Given the description of an element on the screen output the (x, y) to click on. 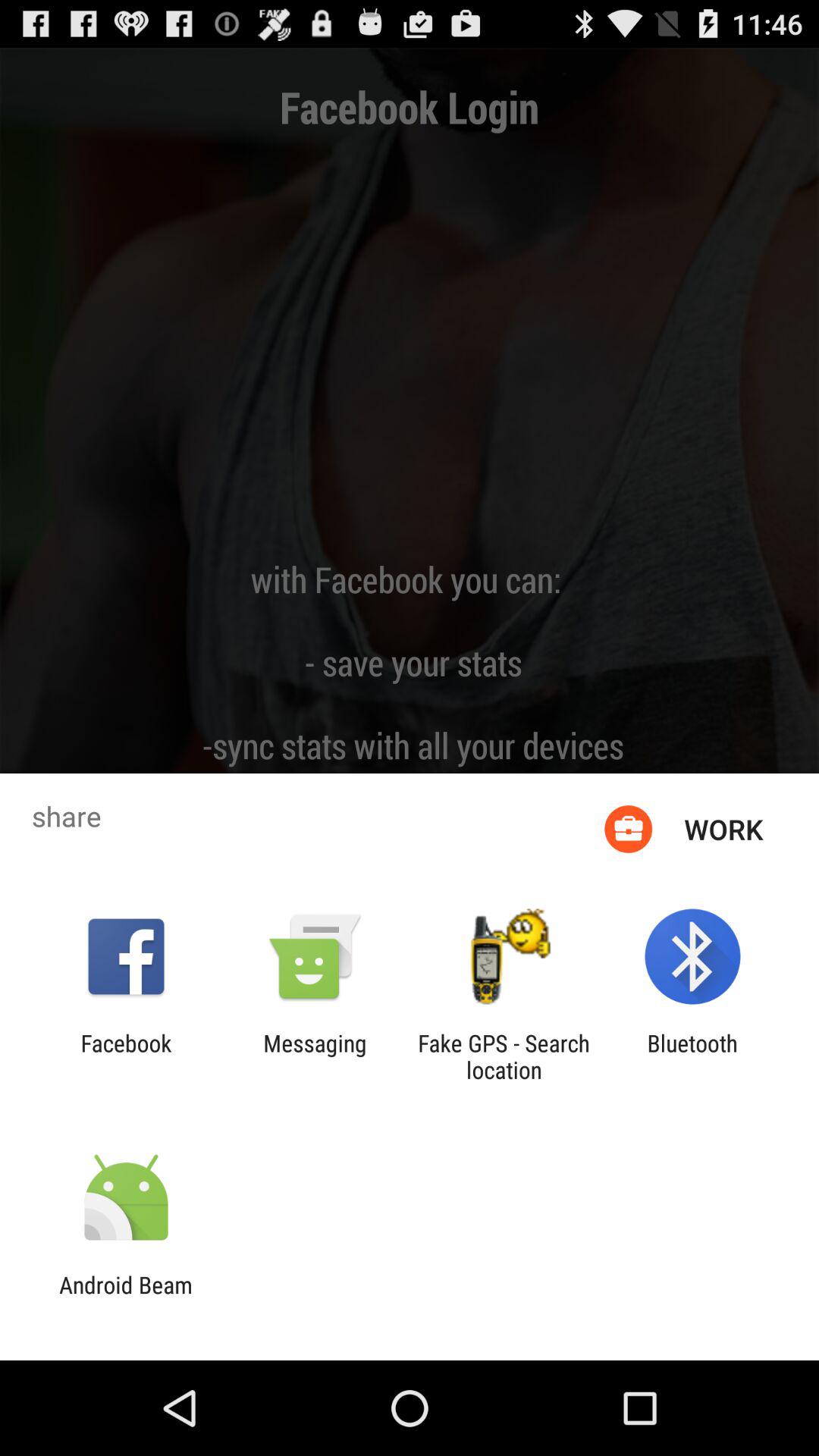
turn on the item to the right of fake gps search item (692, 1056)
